Given the description of an element on the screen output the (x, y) to click on. 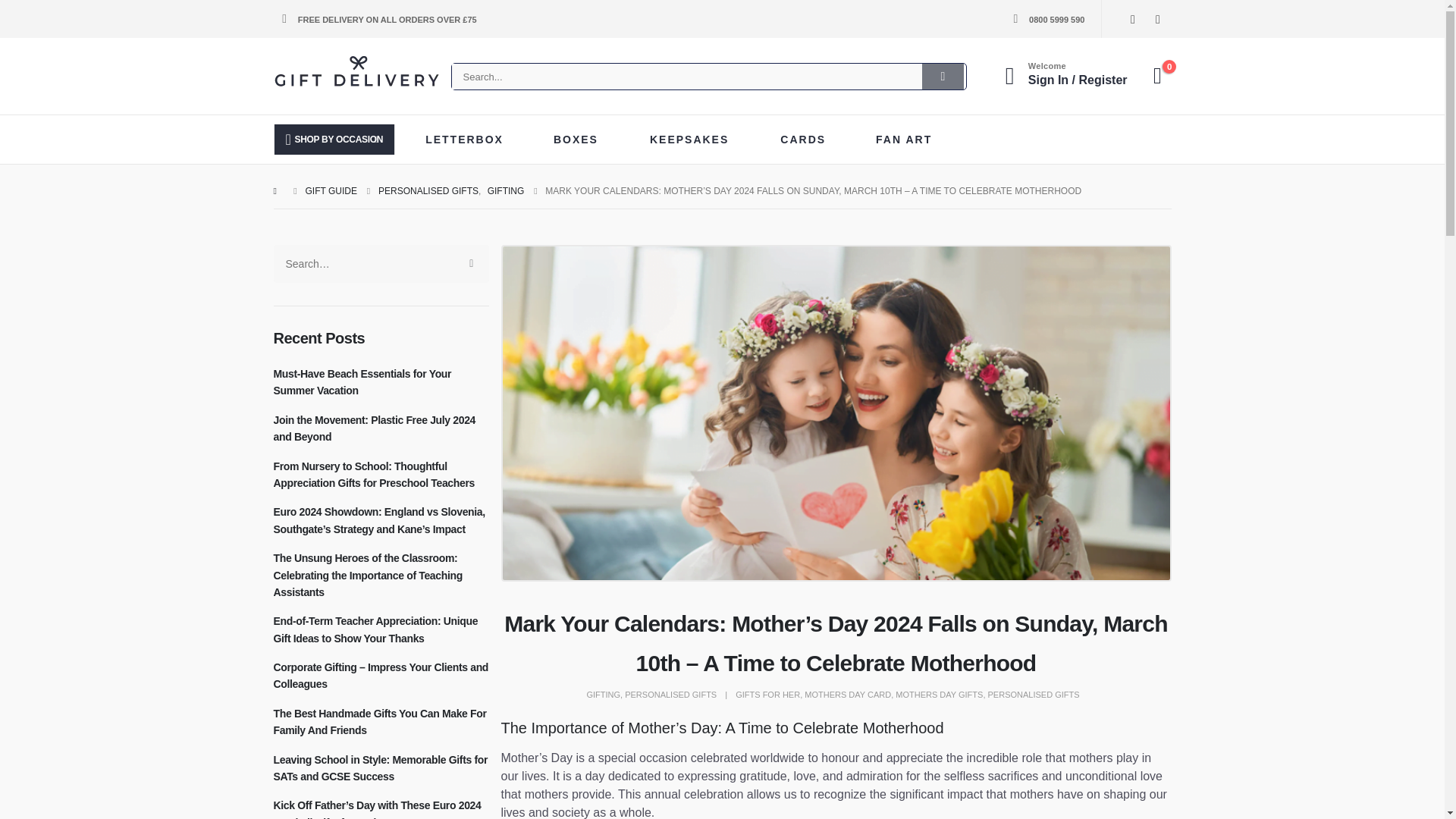
Search (942, 76)
CARDS (808, 139)
LETTERBOX (469, 139)
KEEPSAKES (694, 139)
Facebook (1131, 18)
Instagram (1157, 18)
BOXES (580, 139)
Gift Delivery UK - Send the perfect gift online today (356, 72)
